Given the description of an element on the screen output the (x, y) to click on. 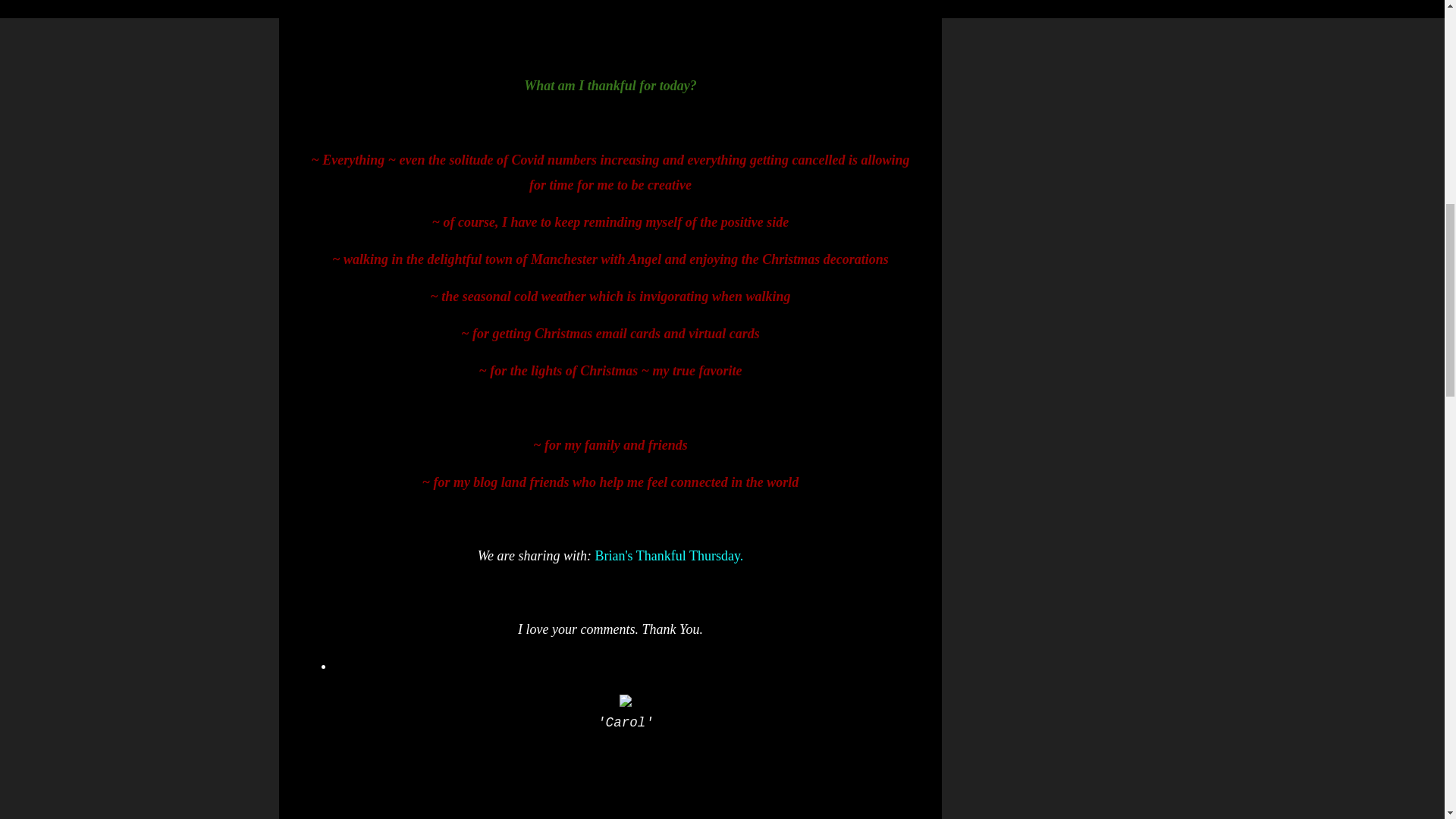
Brian's Thankful Thursday. (668, 555)
